Given the description of an element on the screen output the (x, y) to click on. 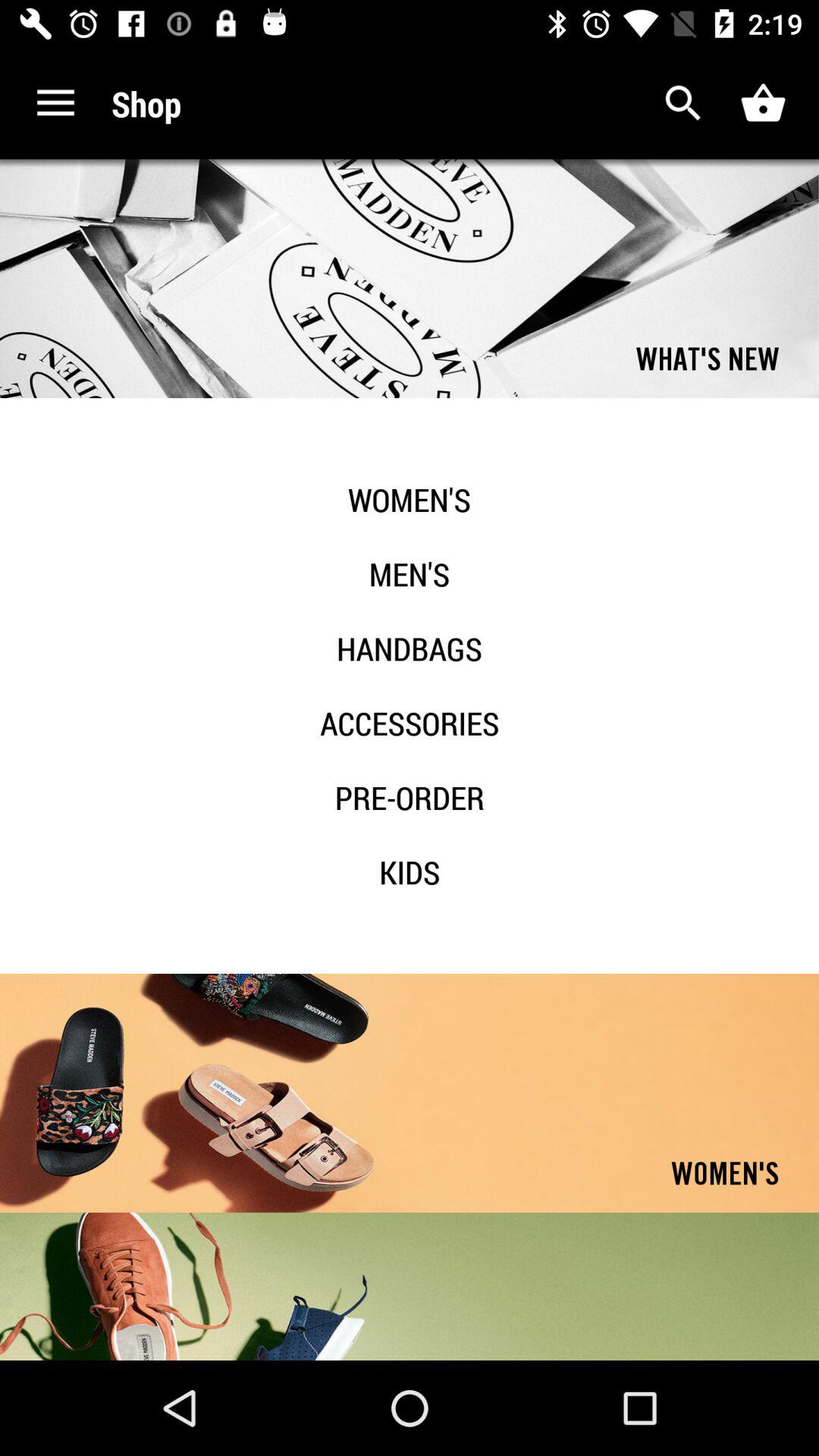
search (683, 103)
